Given the description of an element on the screen output the (x, y) to click on. 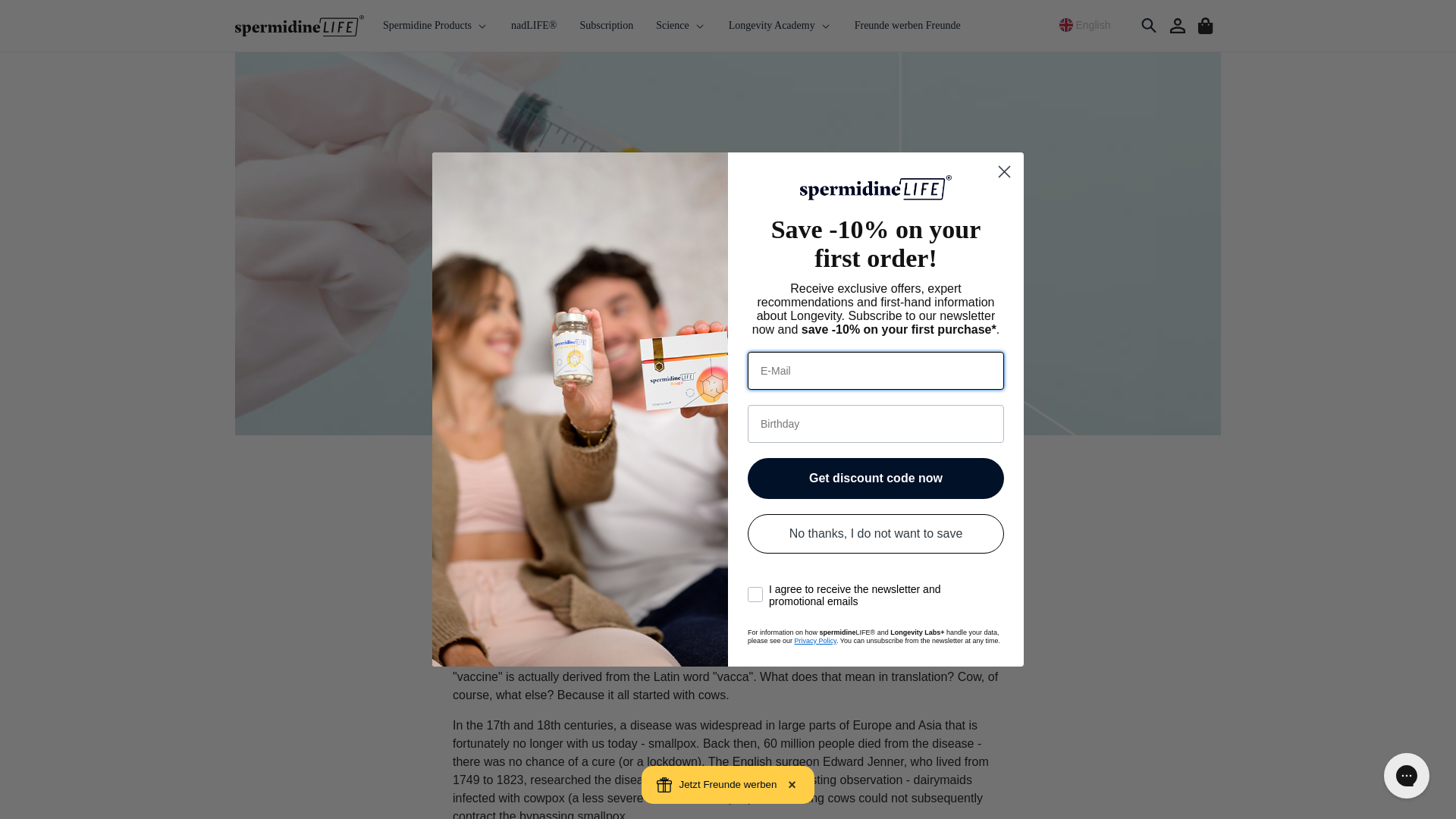
Skip to content (45, 17)
Close dialog 1 (1004, 171)
Gorgias live chat messenger (1406, 775)
on (752, 574)
